Given the description of an element on the screen output the (x, y) to click on. 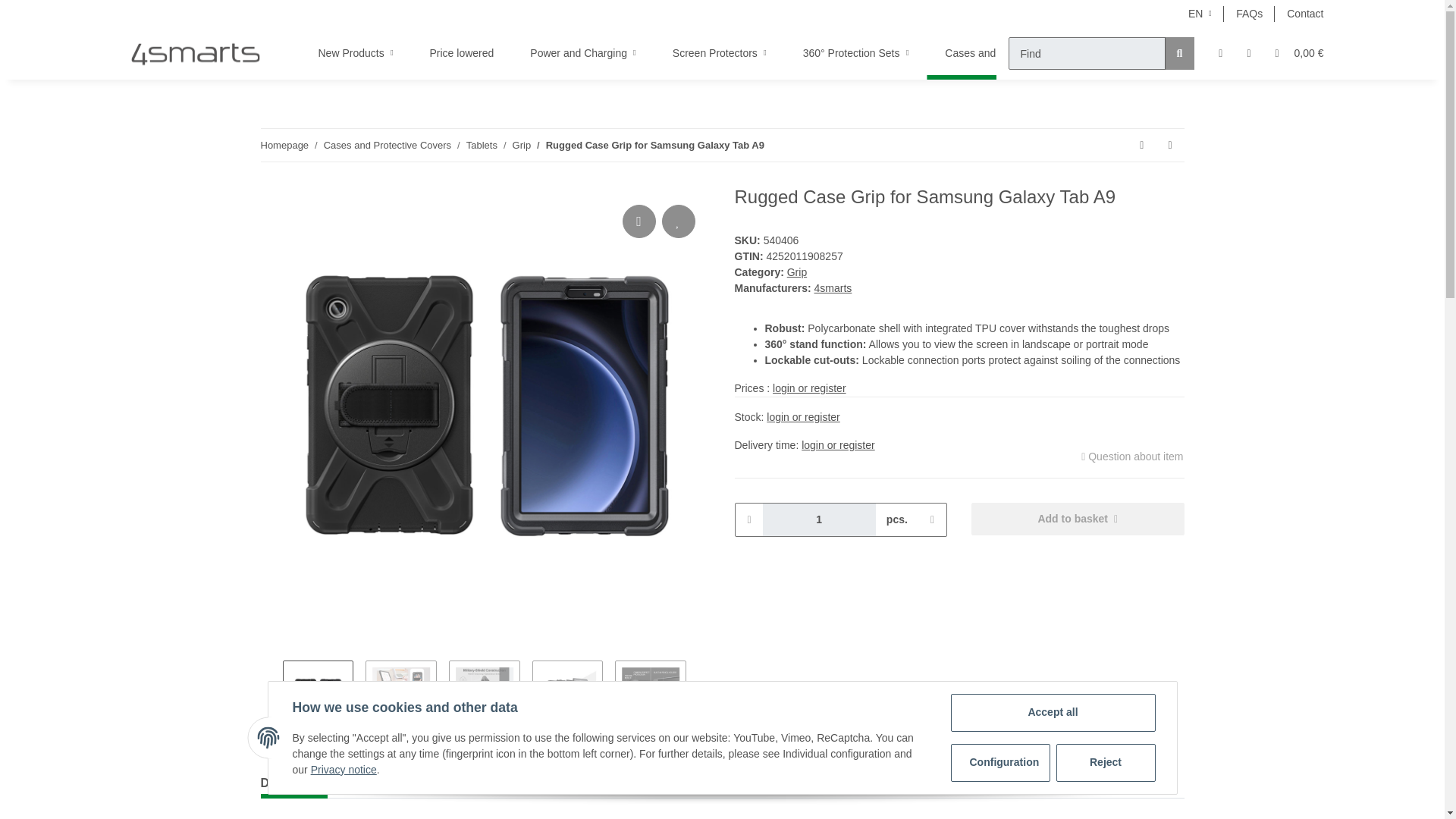
Cases and Protective Covers (1017, 53)
New Products (355, 53)
Cases and Protective Covers (1017, 53)
Price lowered (461, 53)
1 (819, 519)
New Products (355, 53)
Screen Protectors (718, 53)
New Products (355, 53)
Power and Charging (582, 53)
Audio and Video (1171, 53)
Screen Protectors (718, 53)
Cables and Hubs (1296, 53)
Contact (1305, 13)
EN (1200, 13)
Price lowered (461, 53)
